Given the description of an element on the screen output the (x, y) to click on. 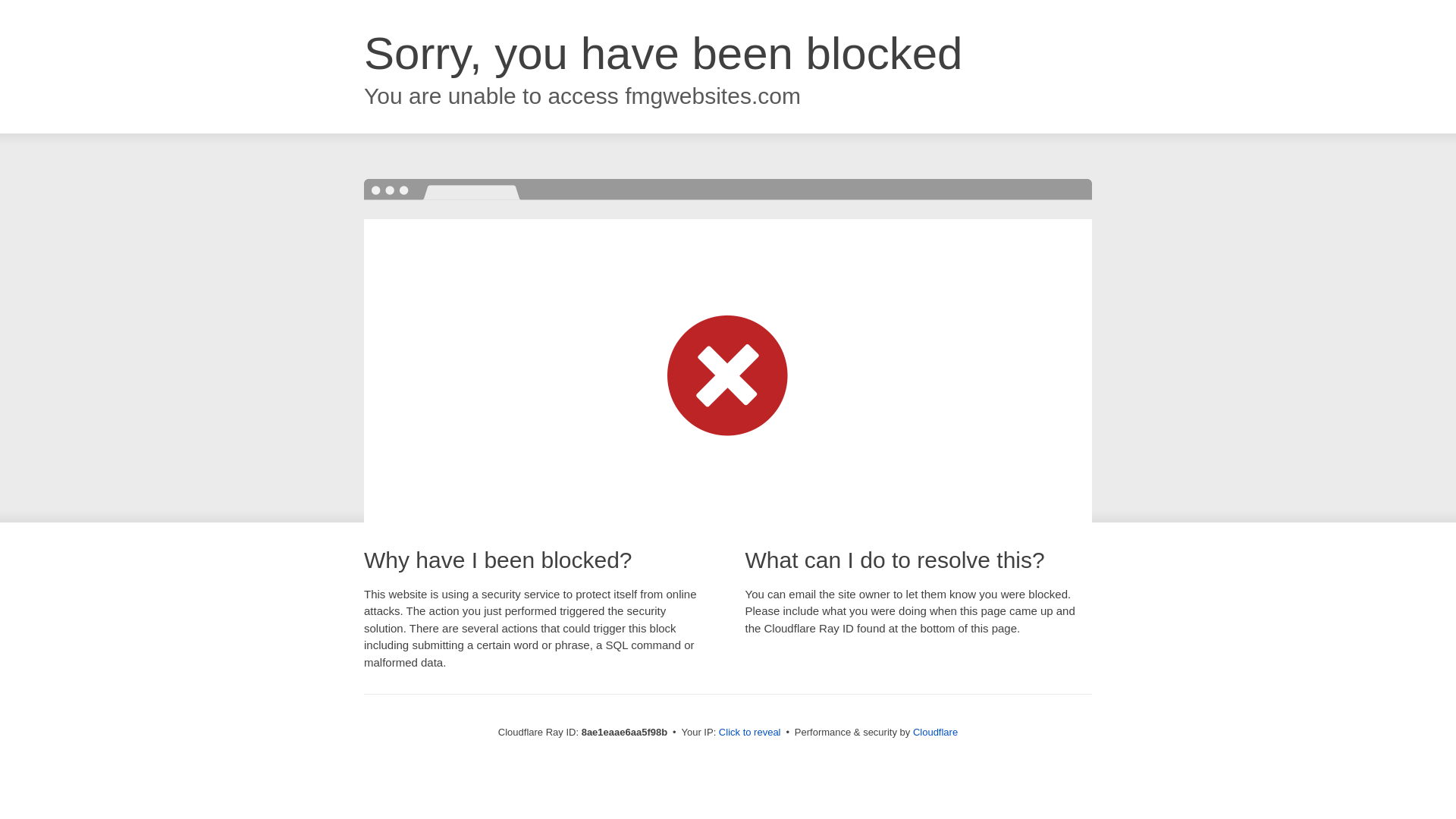
Click to reveal (749, 732)
Cloudflare (935, 731)
